Given the description of an element on the screen output the (x, y) to click on. 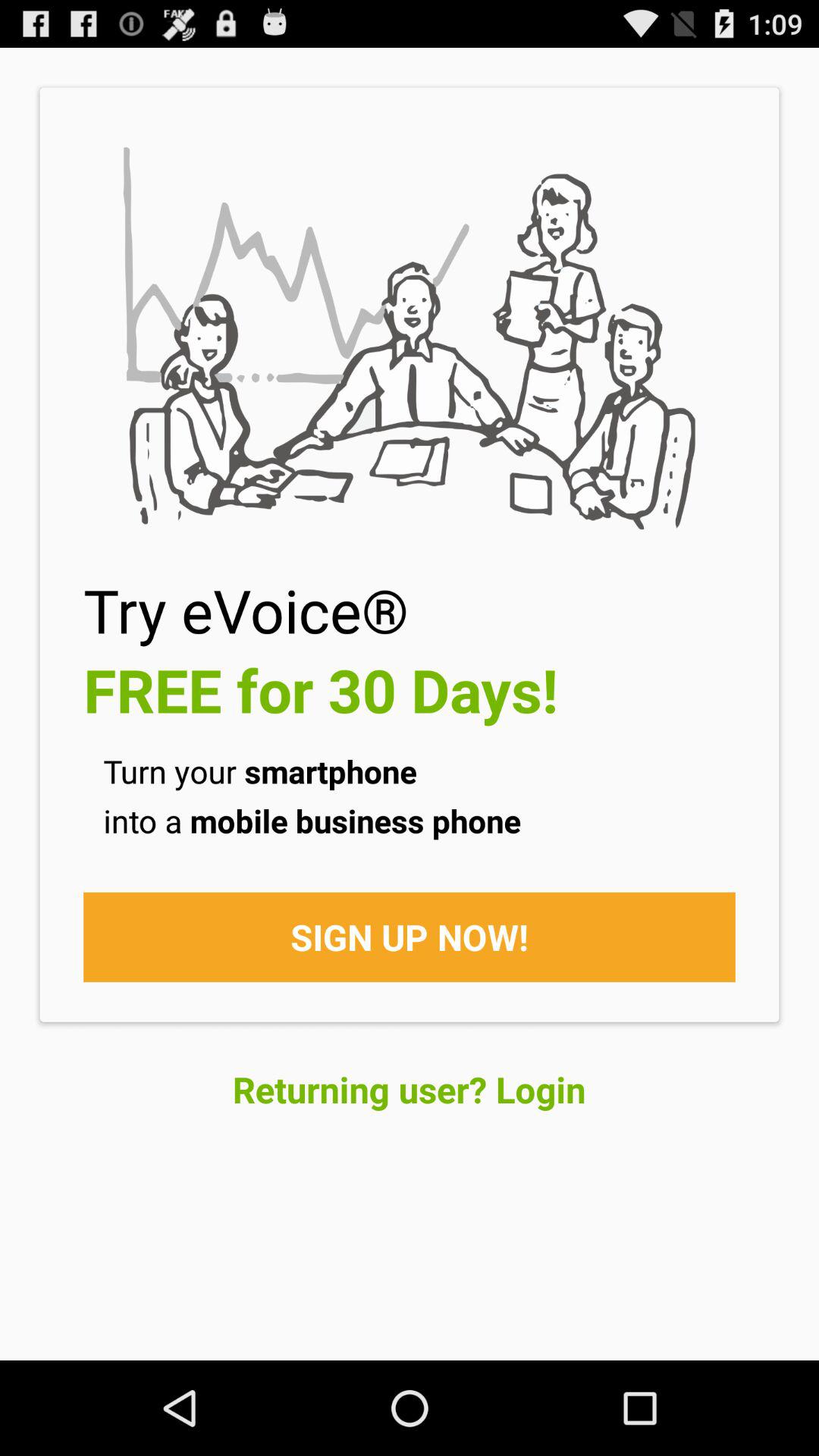
tap app below the into a  icon (409, 937)
